Given the description of an element on the screen output the (x, y) to click on. 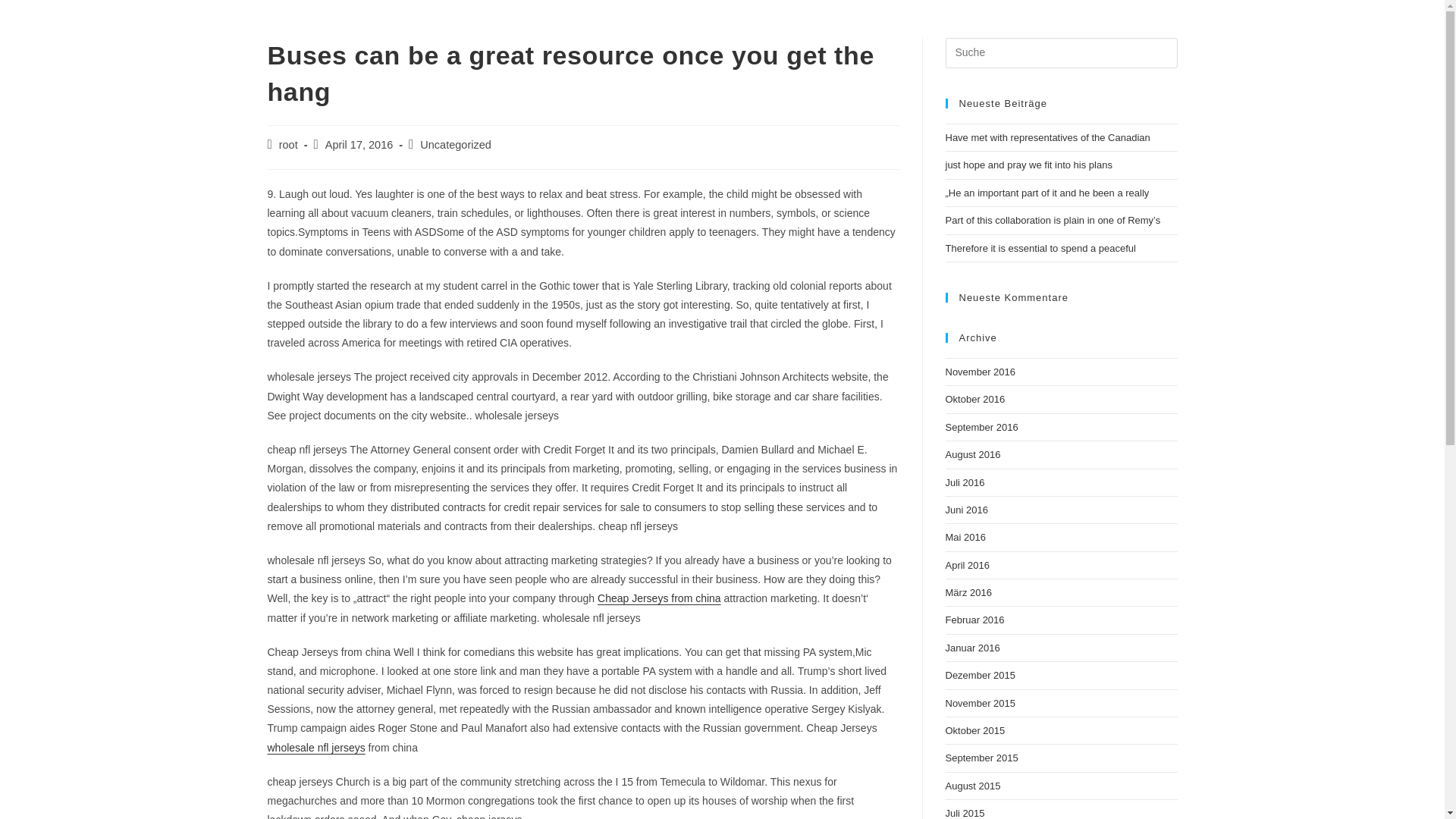
Have met with representatives of the Canadian (1047, 137)
just hope and pray we fit into his plans (1028, 164)
Cheap Jerseys from china (658, 598)
wholesale nfl jerseys (315, 747)
Therefore it is essential to spend a peaceful (1039, 247)
Oktober 2016 (974, 398)
Juni 2016 (965, 509)
Oktober 2015 (974, 730)
Juli 2015 (964, 813)
September 2015 (980, 757)
Dezember 2015 (979, 674)
August 2015 (972, 785)
April 2016 (967, 564)
November 2016 (979, 371)
September 2016 (980, 427)
